Given the description of an element on the screen output the (x, y) to click on. 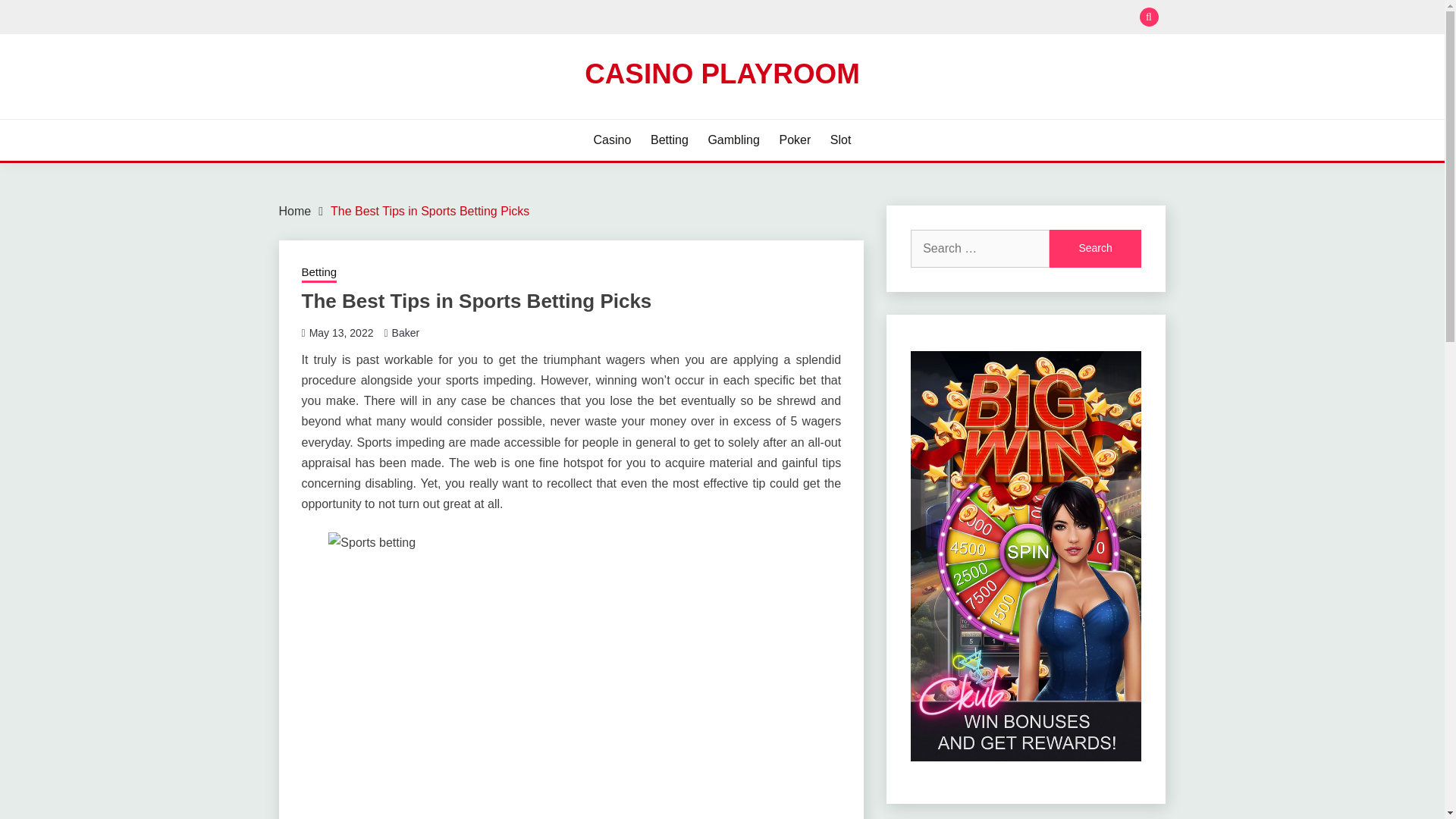
Betting (669, 140)
Search (1095, 248)
Gambling (732, 140)
Slot (840, 140)
The Best Tips in Sports Betting Picks (429, 210)
CASINO PLAYROOM (722, 73)
Home (295, 210)
Search (1095, 248)
May 13, 2022 (341, 332)
Poker (794, 140)
